Given the description of an element on the screen output the (x, y) to click on. 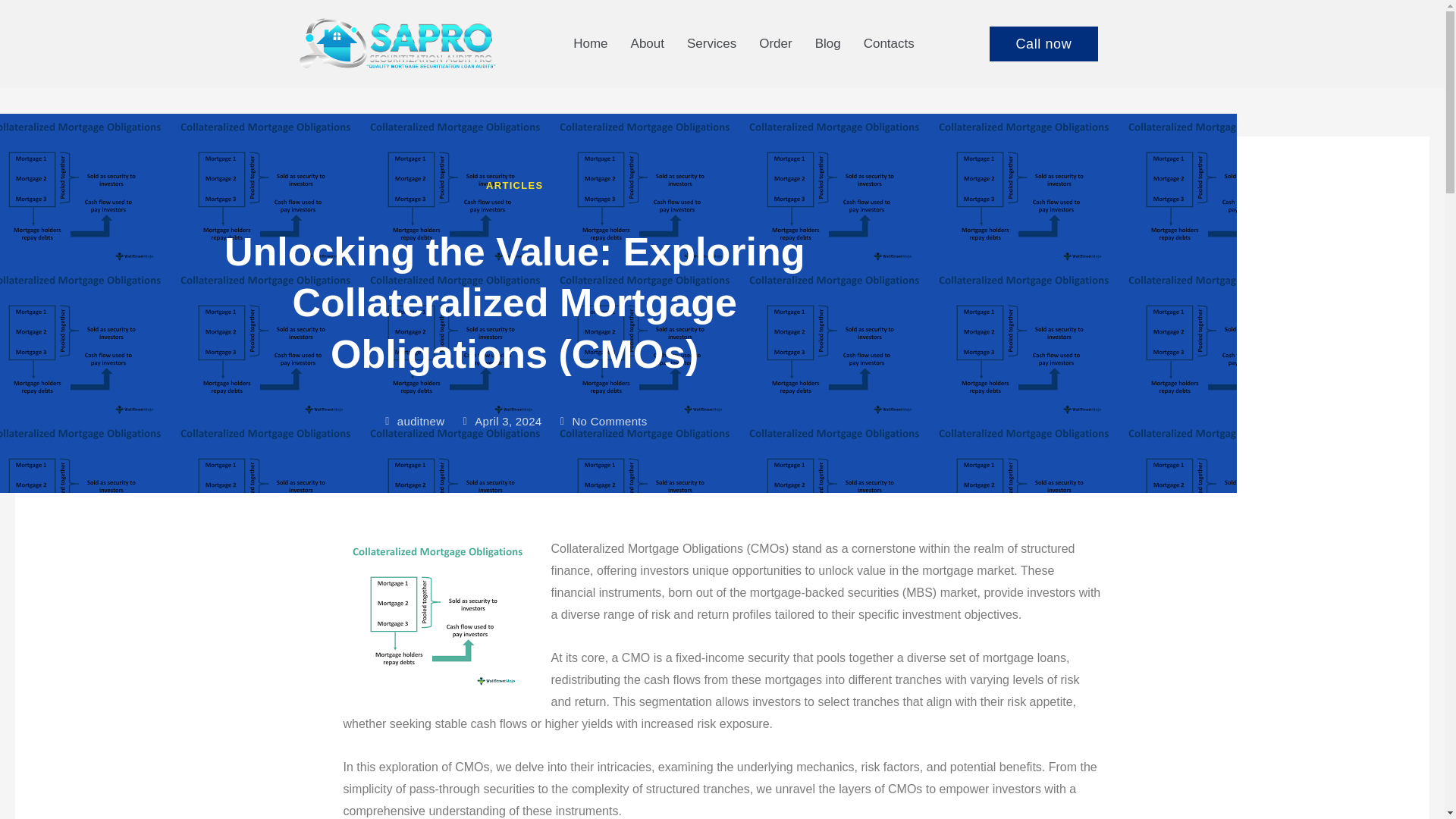
About (647, 43)
Home (590, 43)
ARTICLES (514, 184)
auditnew (412, 422)
No Comments (601, 422)
Contacts (888, 43)
April 3, 2024 (500, 422)
Blog (827, 43)
Services (711, 43)
Order (775, 43)
Call now (1042, 43)
